Given the description of an element on the screen output the (x, y) to click on. 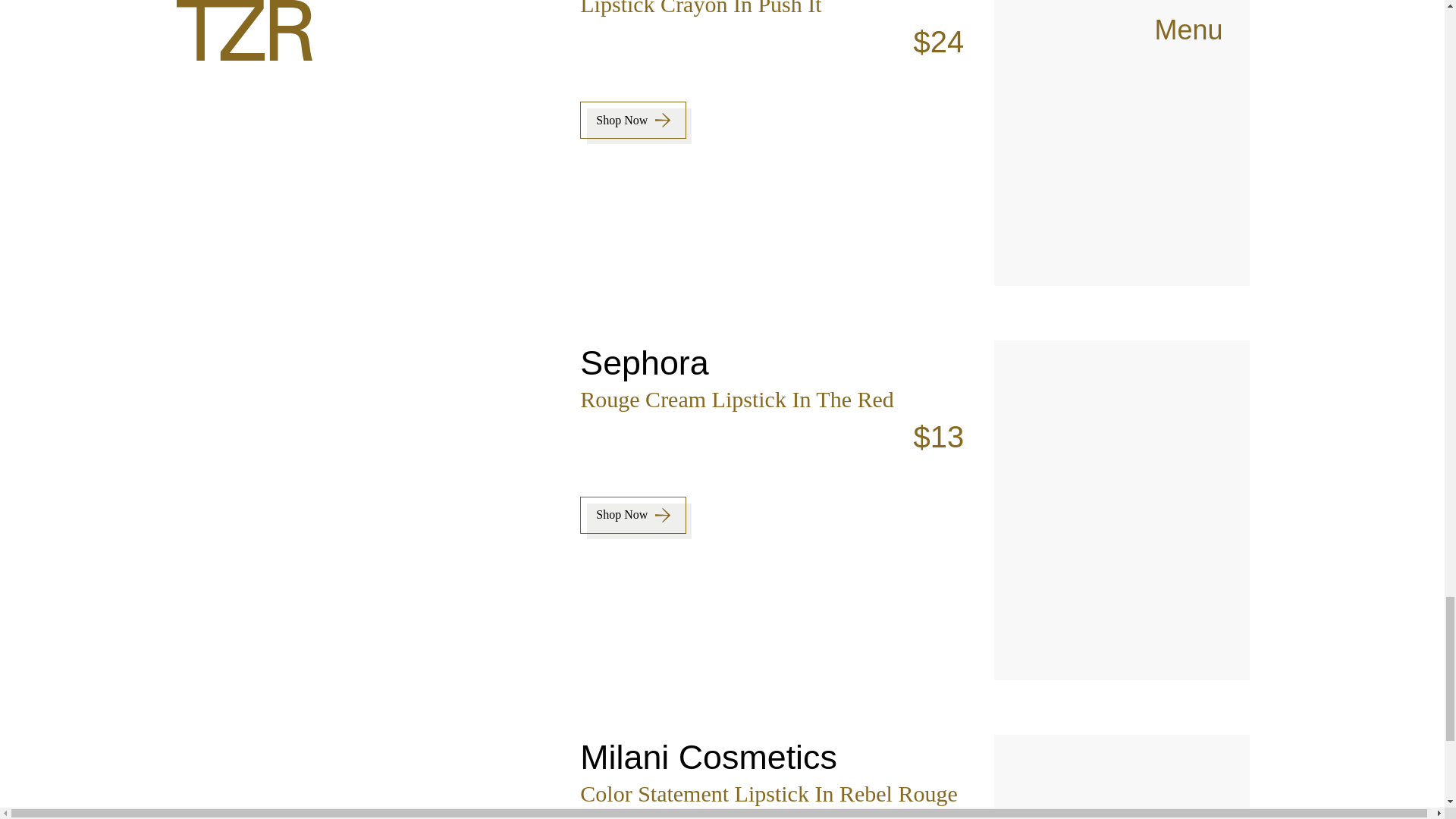
Shop Now (632, 515)
Shop Now (632, 120)
